Given the description of an element on the screen output the (x, y) to click on. 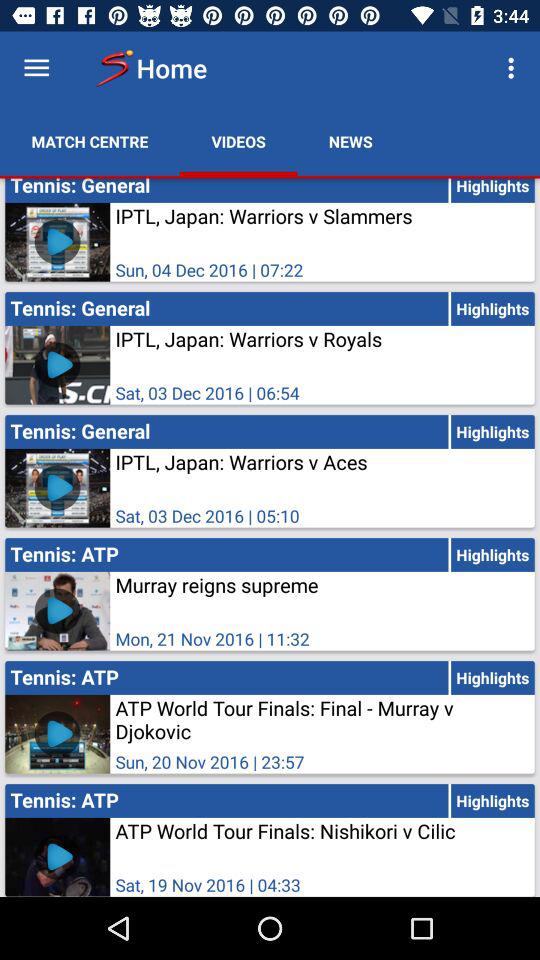
press app next to the videos icon (350, 141)
